Given the description of an element on the screen output the (x, y) to click on. 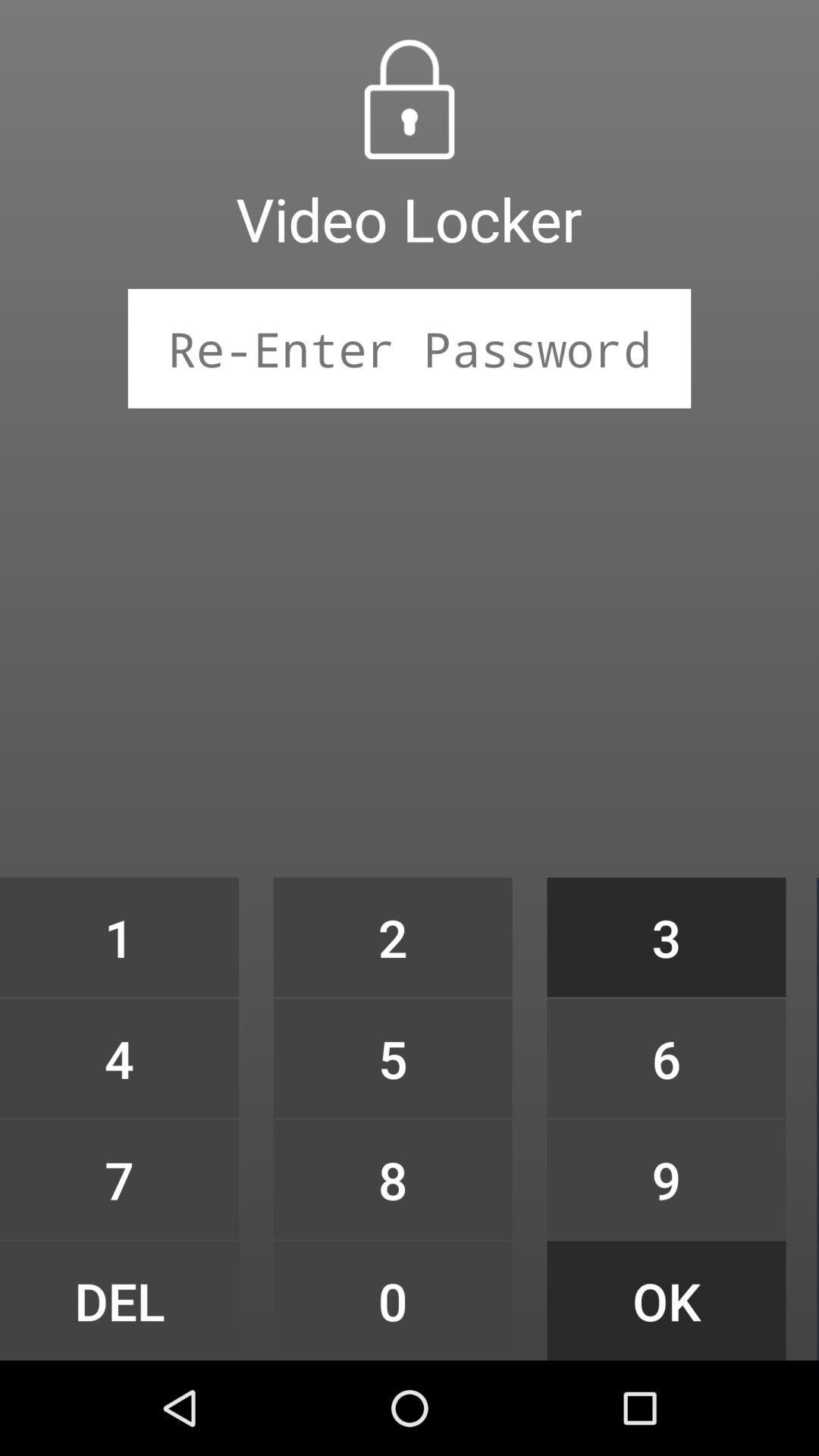
flip until the ok icon (666, 1300)
